Given the description of an element on the screen output the (x, y) to click on. 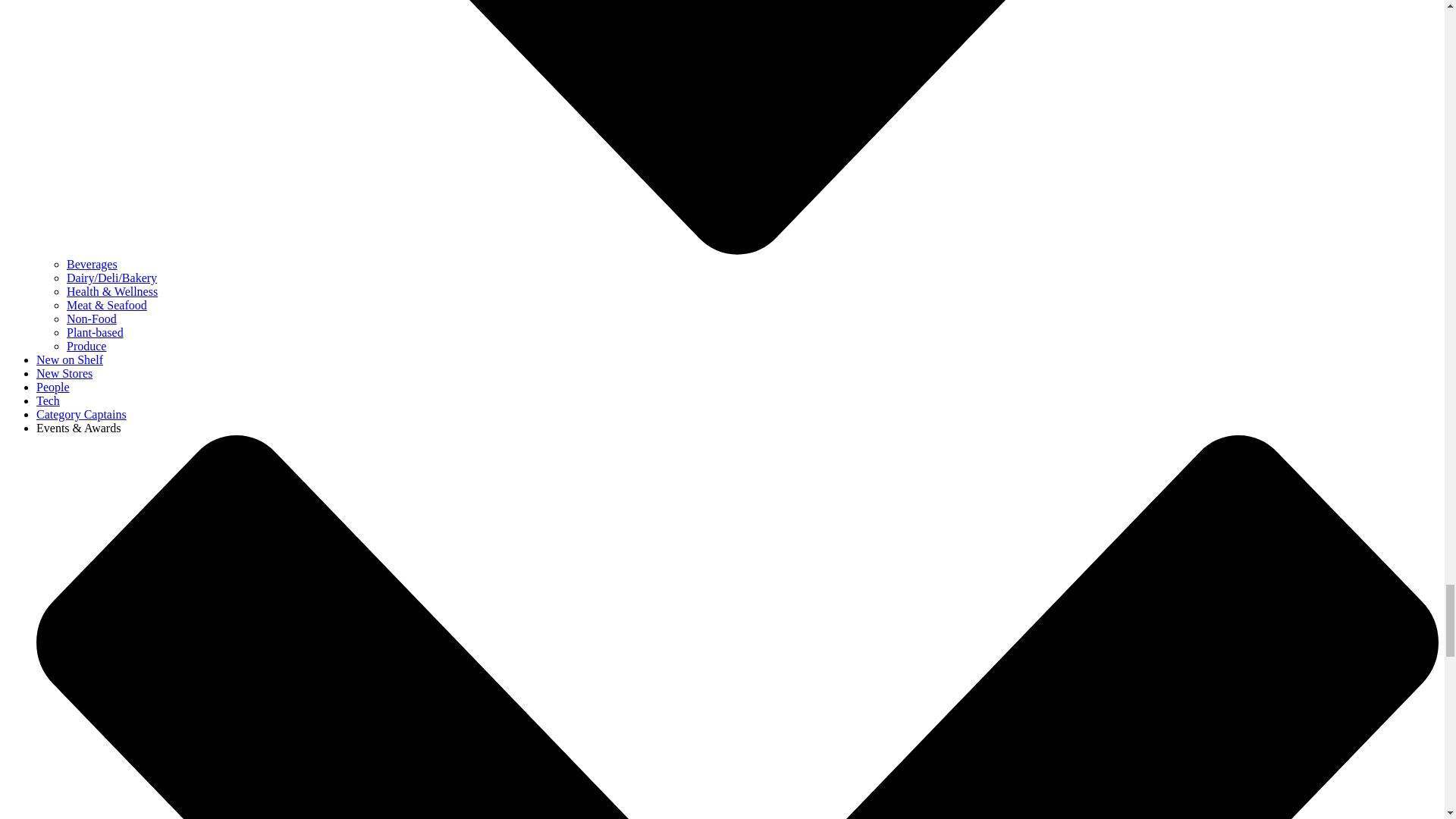
New on Shelf (69, 359)
New Stores (64, 373)
Category Captains (81, 413)
Tech (47, 400)
Non-Food (91, 318)
Plant-based (94, 332)
People (52, 386)
Produce (86, 345)
Beverages (91, 264)
